Given the description of an element on the screen output the (x, y) to click on. 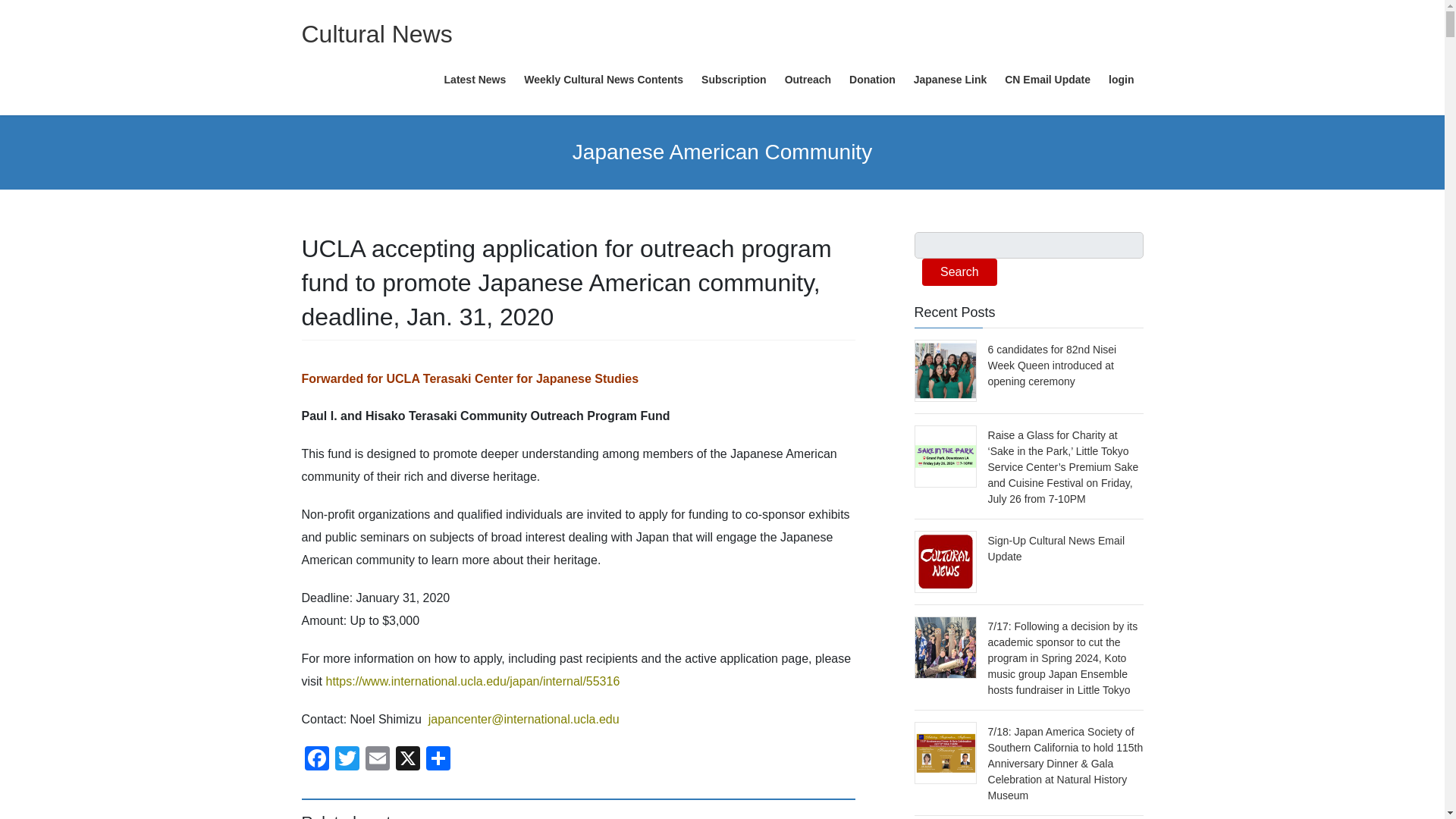
Cultural News (376, 33)
Outreach (808, 80)
Latest News (475, 80)
Facebook (316, 759)
Twitter (346, 759)
Facebook (316, 759)
Email (377, 759)
Weekly Cultural News Contents (604, 80)
Email (377, 759)
X (408, 759)
CN Email Update (1047, 80)
Twitter (346, 759)
X (408, 759)
Subscription (734, 80)
Japanese Link (949, 80)
